Given the description of an element on the screen output the (x, y) to click on. 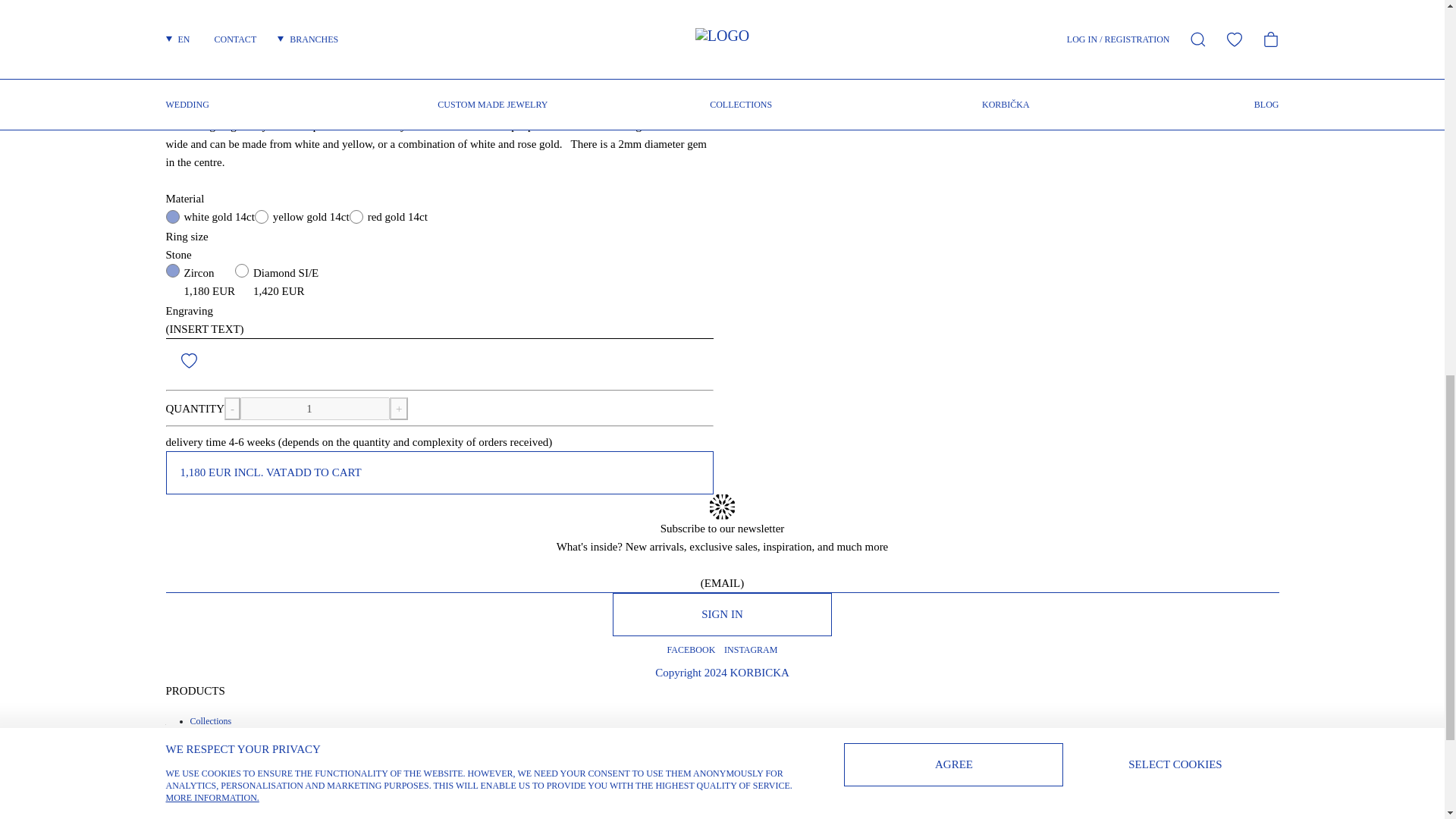
1 (315, 408)
996 (241, 270)
white gold 14ct (172, 216)
yellow gold 14ct (260, 216)
995 (172, 270)
red gold 14ct (355, 216)
